Given the description of an element on the screen output the (x, y) to click on. 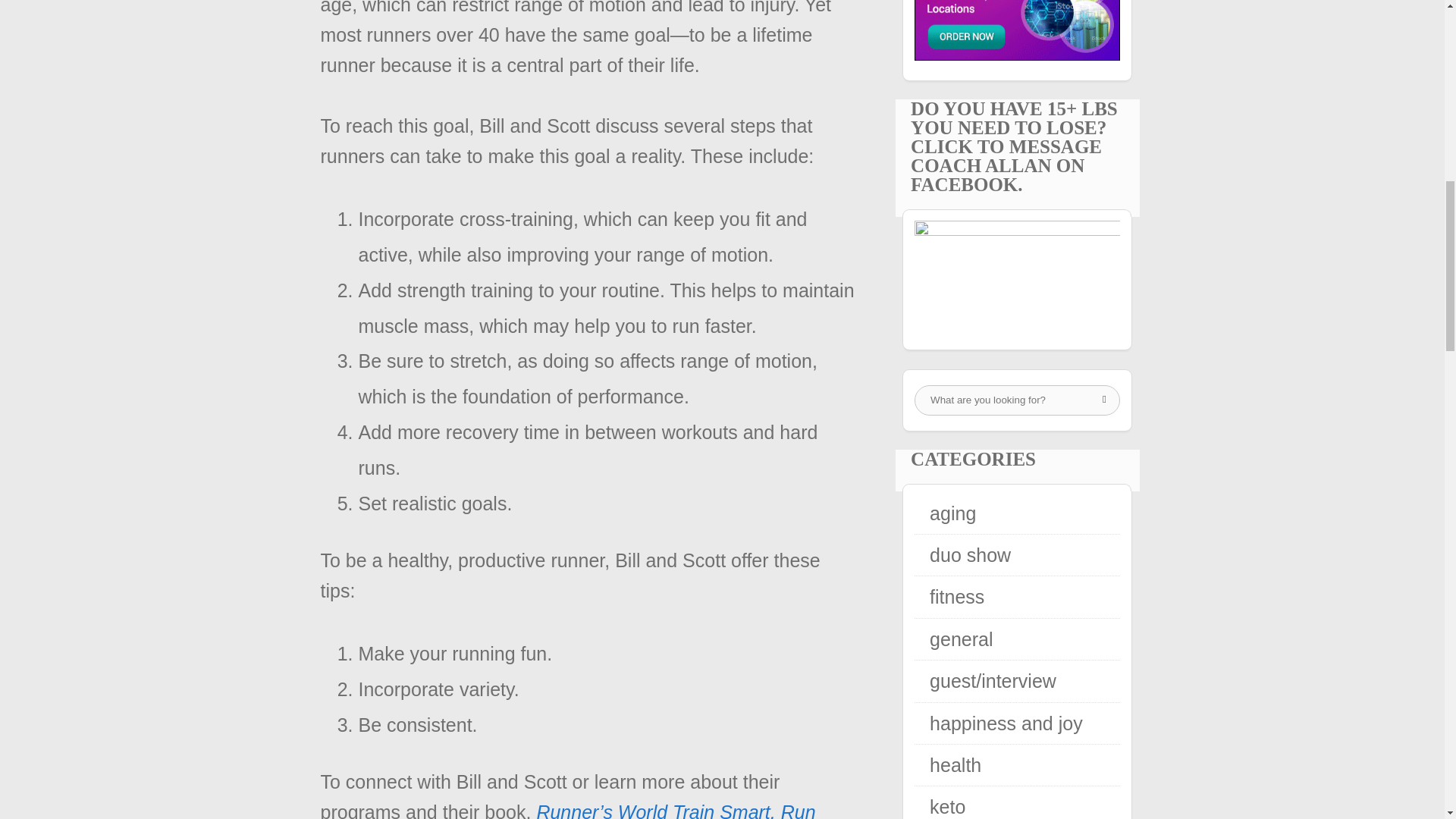
keto (947, 806)
fitness (957, 596)
general (961, 639)
aging (952, 513)
duo show (970, 554)
happiness and joy (1006, 722)
health (955, 764)
